Given the description of an element on the screen output the (x, y) to click on. 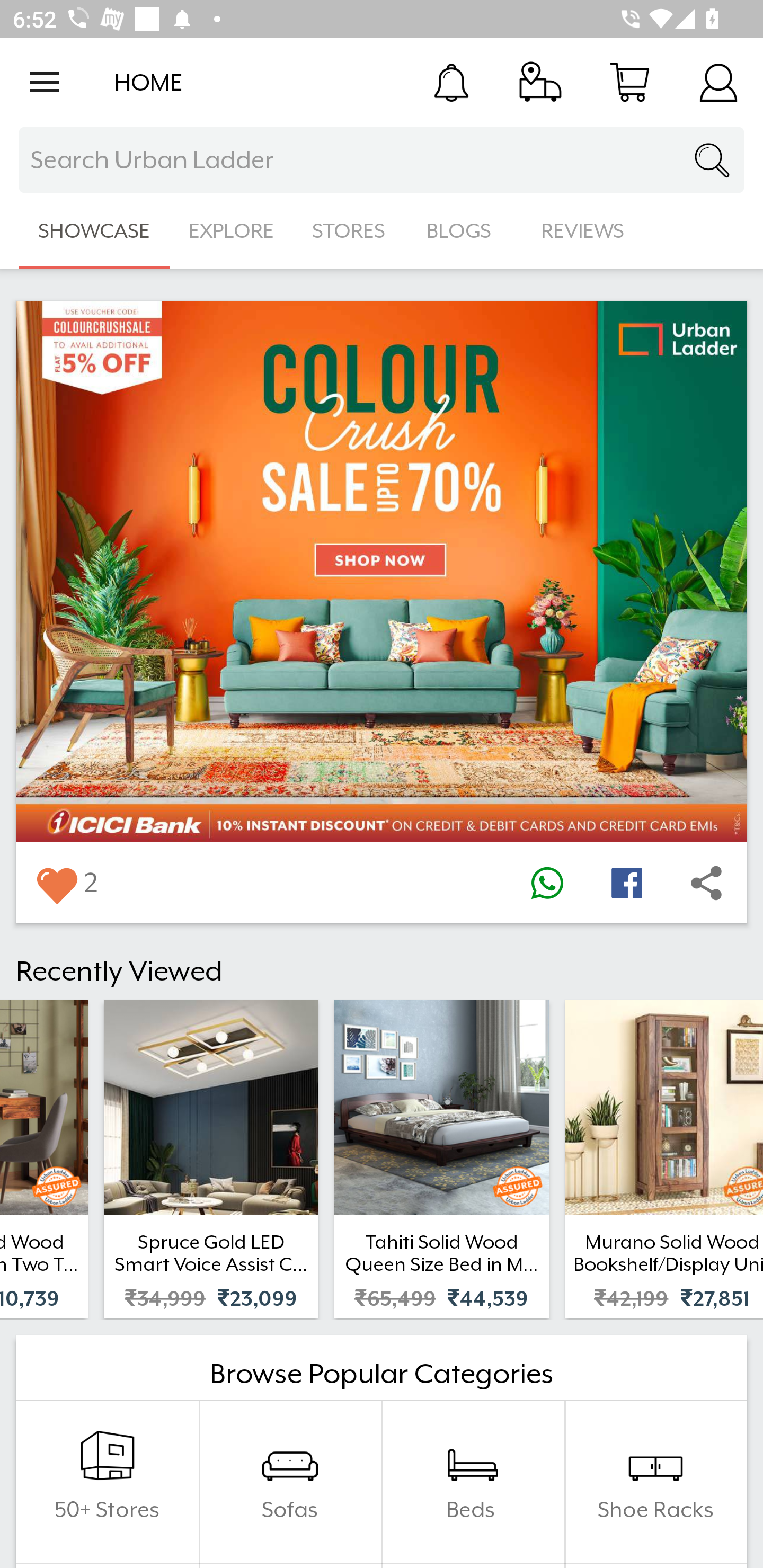
Open navigation drawer (44, 82)
Notification (450, 81)
Track Order (540, 81)
Cart (629, 81)
Account Details (718, 81)
Search Urban Ladder  (381, 159)
SHOWCASE (94, 230)
EXPLORE (230, 230)
STORES (349, 230)
BLOGS (464, 230)
REVIEWS (582, 230)
 (55, 882)
 (547, 882)
 (626, 882)
 (706, 882)
50+ Stores (106, 1481)
Sofas (289, 1481)
Beds  (473, 1481)
Shoe Racks (655, 1481)
